Given the description of an element on the screen output the (x, y) to click on. 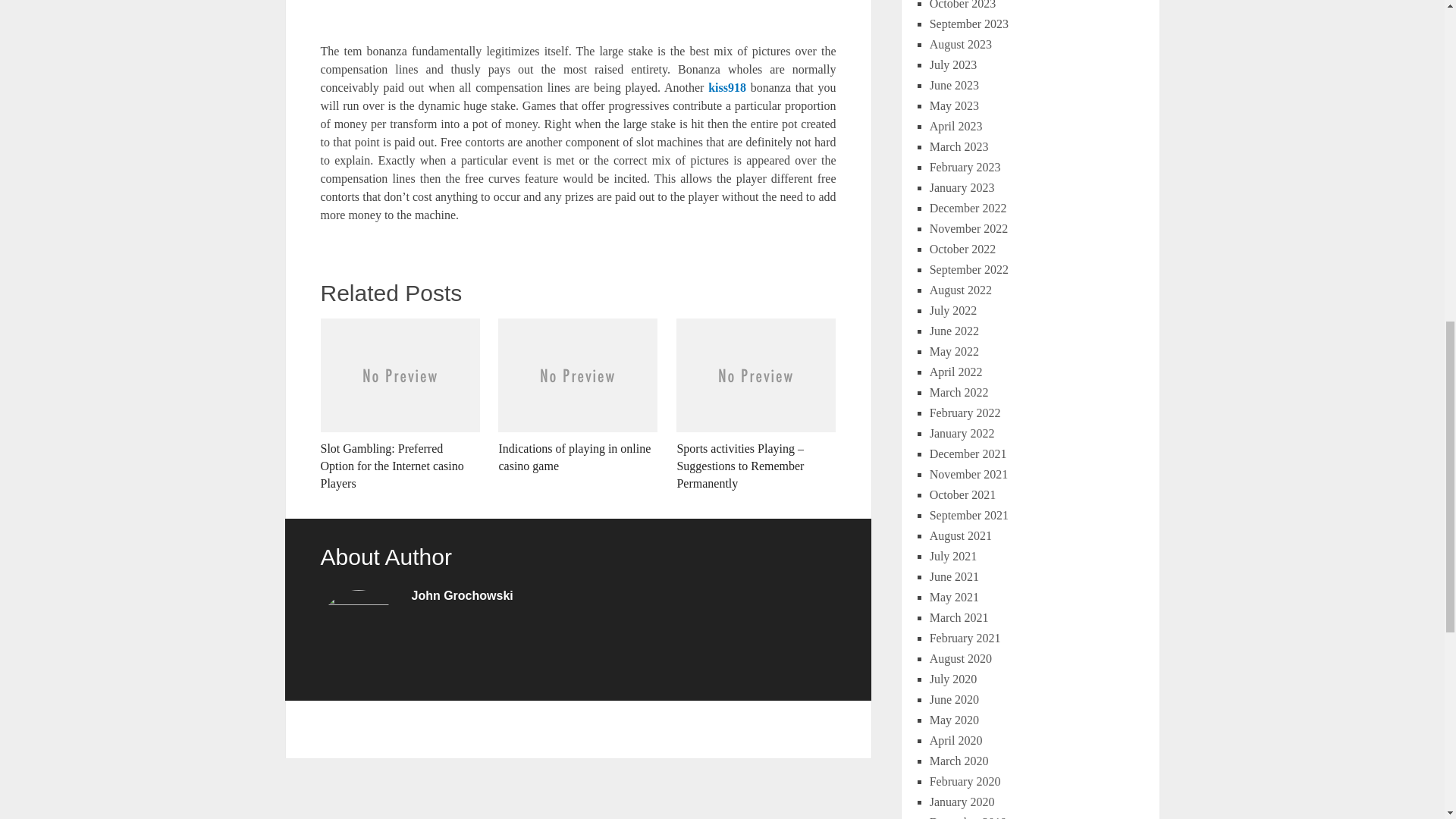
September 2023 (969, 23)
February 2023 (965, 166)
May 2023 (954, 105)
June 2023 (954, 84)
July 2023 (953, 64)
October 2023 (962, 4)
January 2023 (962, 187)
March 2023 (959, 146)
December 2022 (968, 207)
April 2023 (956, 125)
August 2023 (960, 43)
Indications of playing in online casino game (577, 396)
kiss918 (726, 87)
